Given the description of an element on the screen output the (x, y) to click on. 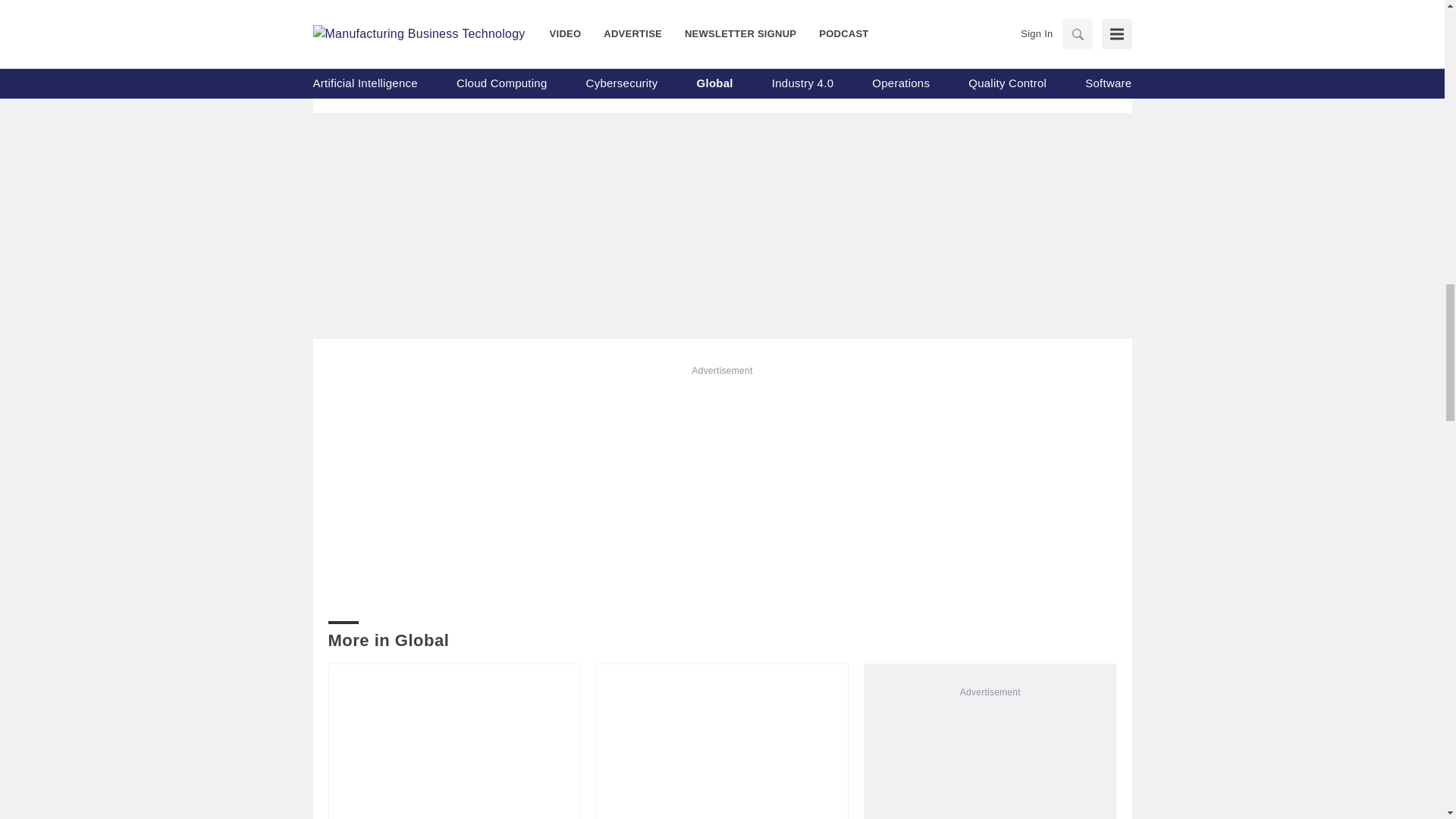
Sponsor Content (996, 20)
Global (360, 14)
Global (762, 14)
Global (561, 14)
